Given the description of an element on the screen output the (x, y) to click on. 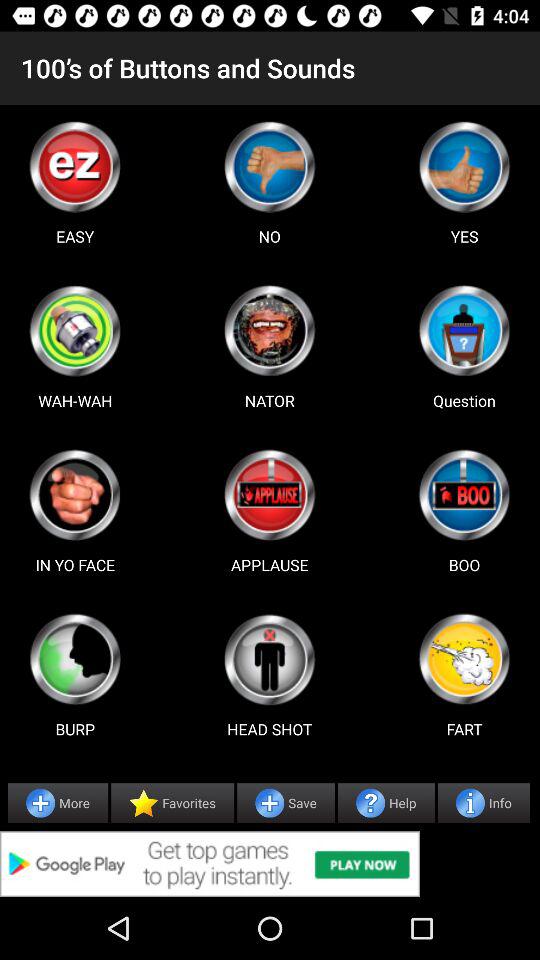
go nator (269, 330)
